Given the description of an element on the screen output the (x, y) to click on. 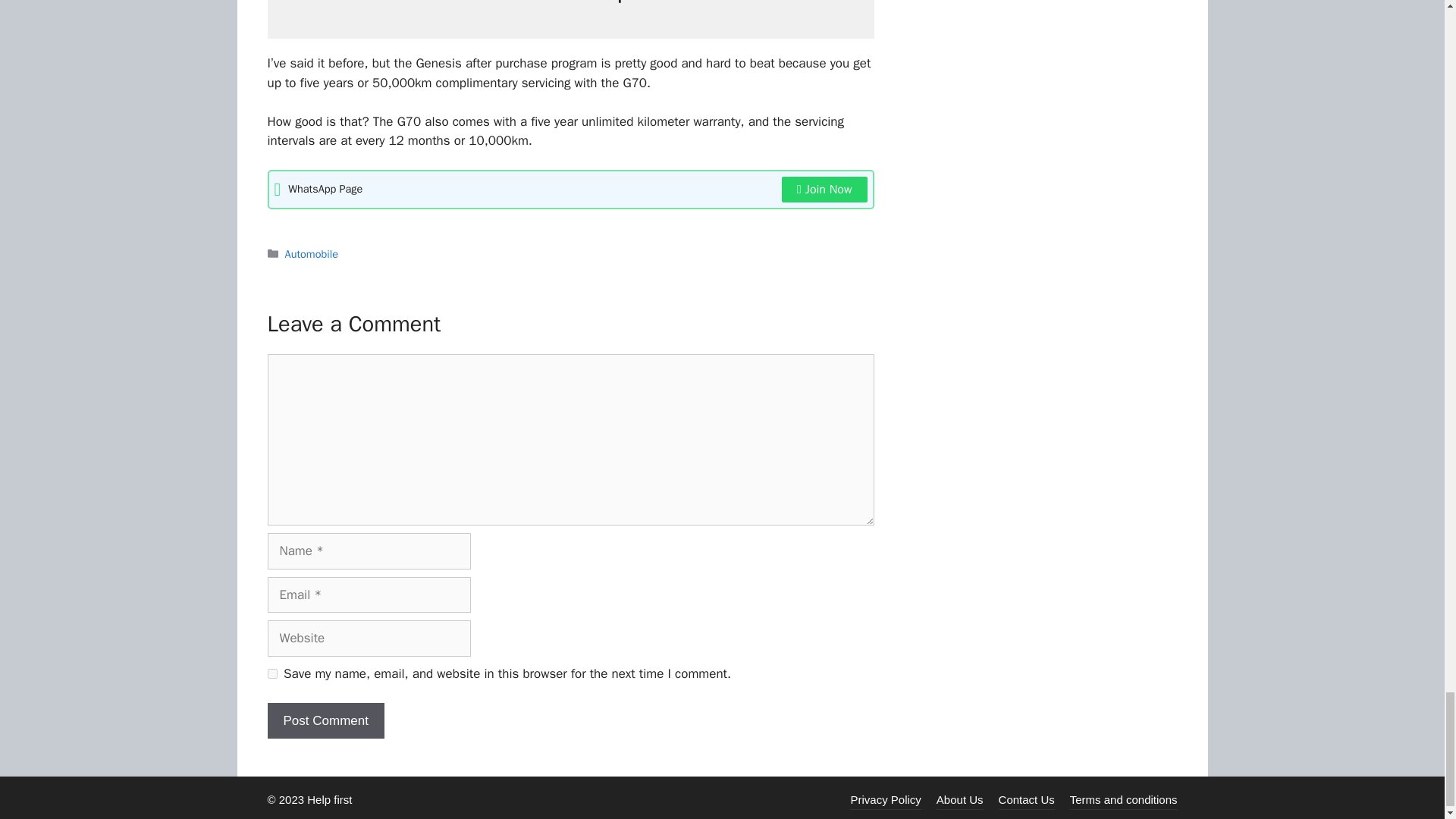
Join Now (824, 189)
About Us (960, 799)
yes (271, 673)
Privacy Policy (885, 799)
Post Comment (325, 720)
Post Comment (325, 720)
Automobile (311, 254)
